Given the description of an element on the screen output the (x, y) to click on. 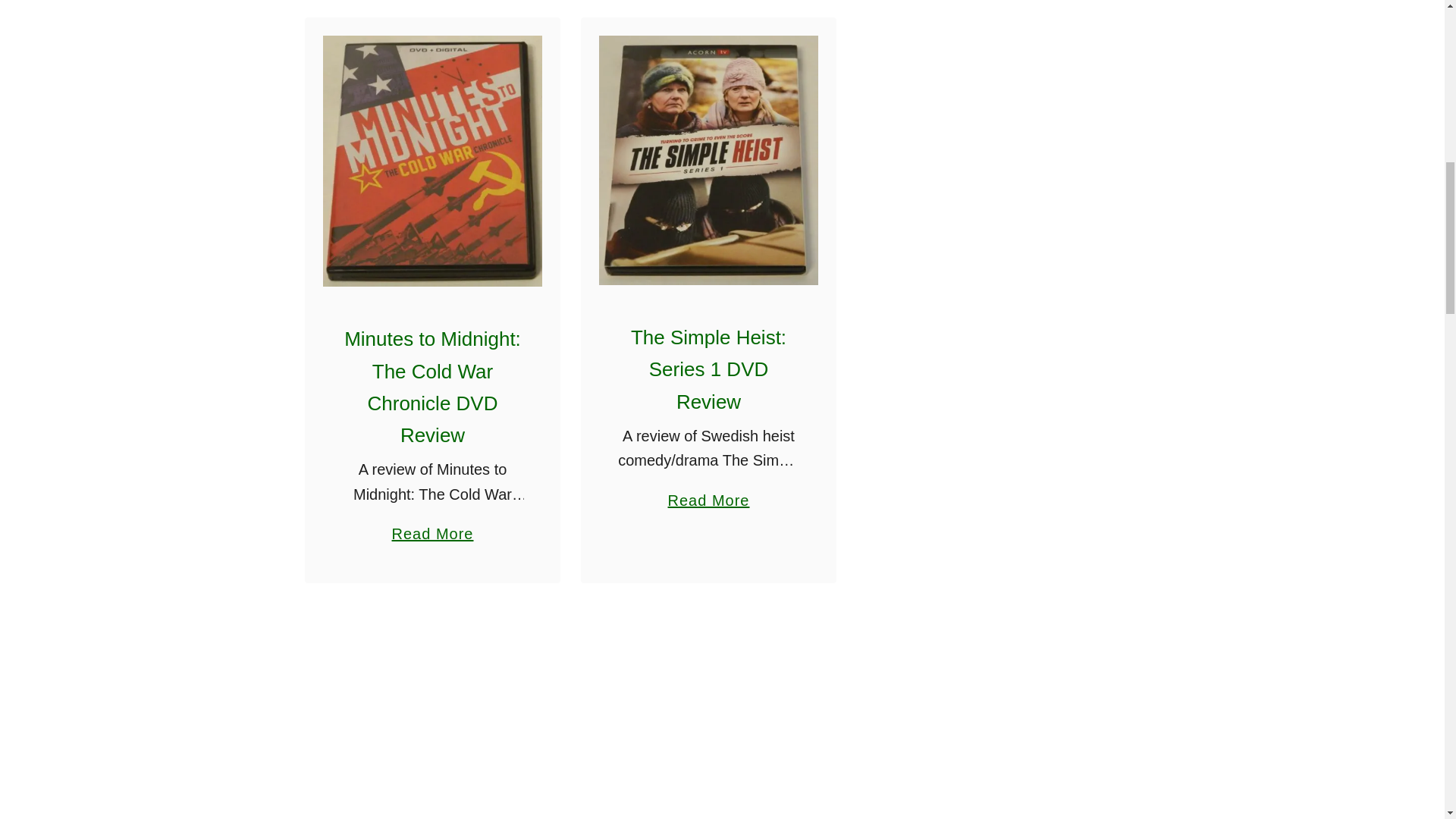
The Simple Heist: Series 1 DVD Review (708, 369)
Minutes to Midnight: The Cold War Chronicle DVD Review (708, 493)
